Given the description of an element on the screen output the (x, y) to click on. 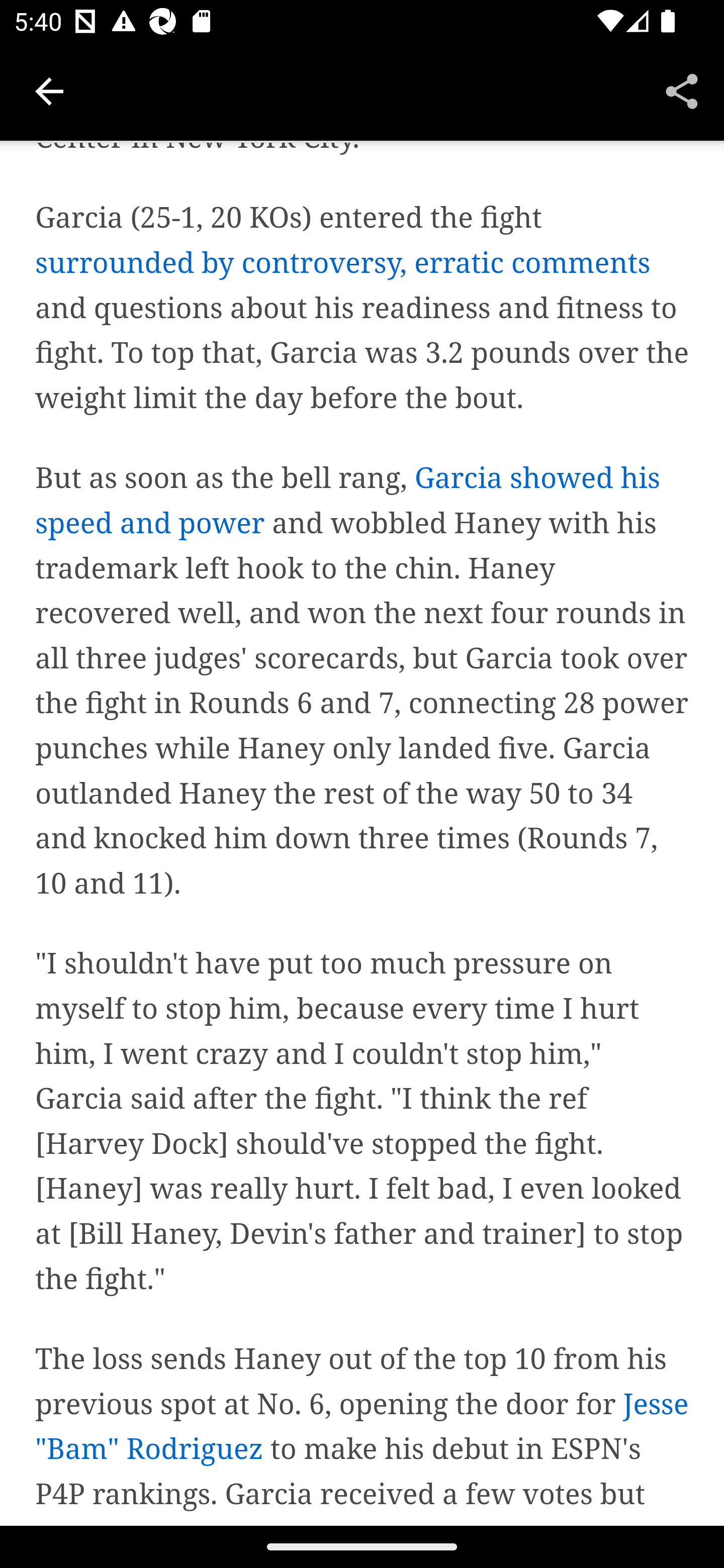
Navigate up (49, 91)
Share (681, 90)
